Given the description of an element on the screen output the (x, y) to click on. 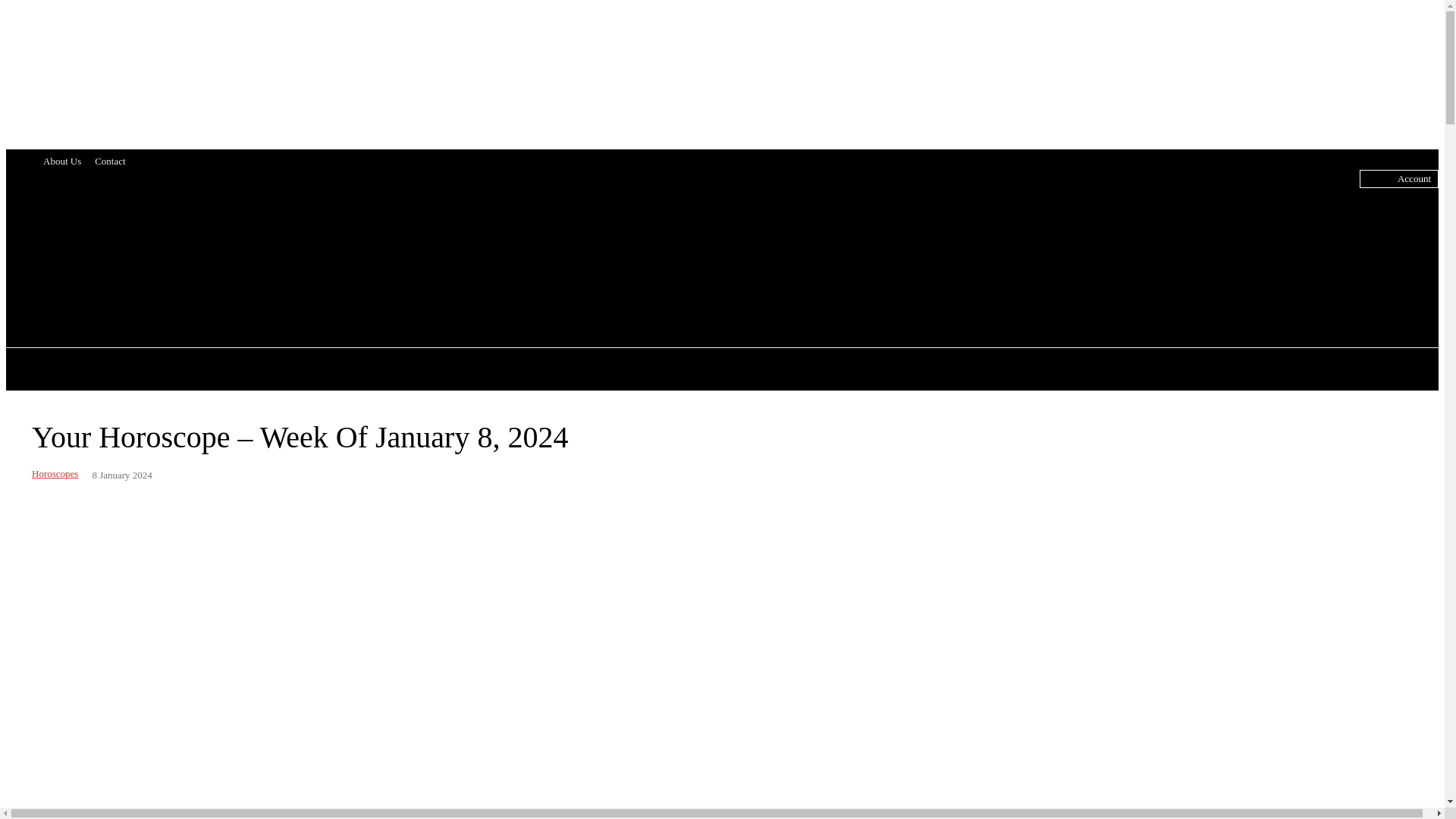
Instagram (596, 253)
Contact (109, 161)
Account (1414, 178)
Horoscopes (55, 473)
Reddit (625, 253)
LIFESTYLE (651, 369)
SPORT (949, 369)
LOCAL NEWS (544, 369)
About Us (61, 161)
Facebook (569, 253)
